Given the description of an element on the screen output the (x, y) to click on. 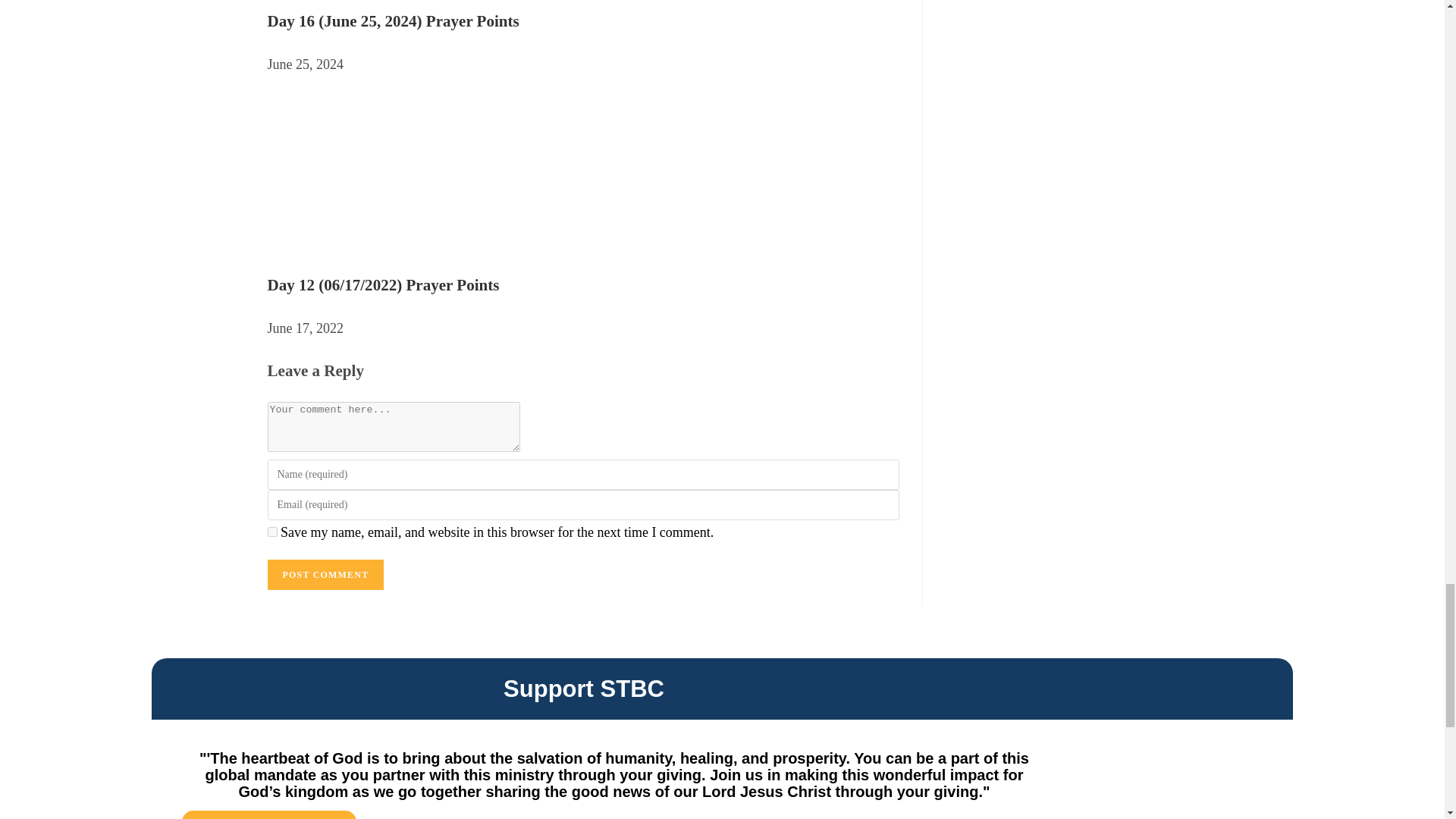
Post Comment (325, 574)
yes (271, 532)
